Given the description of an element on the screen output the (x, y) to click on. 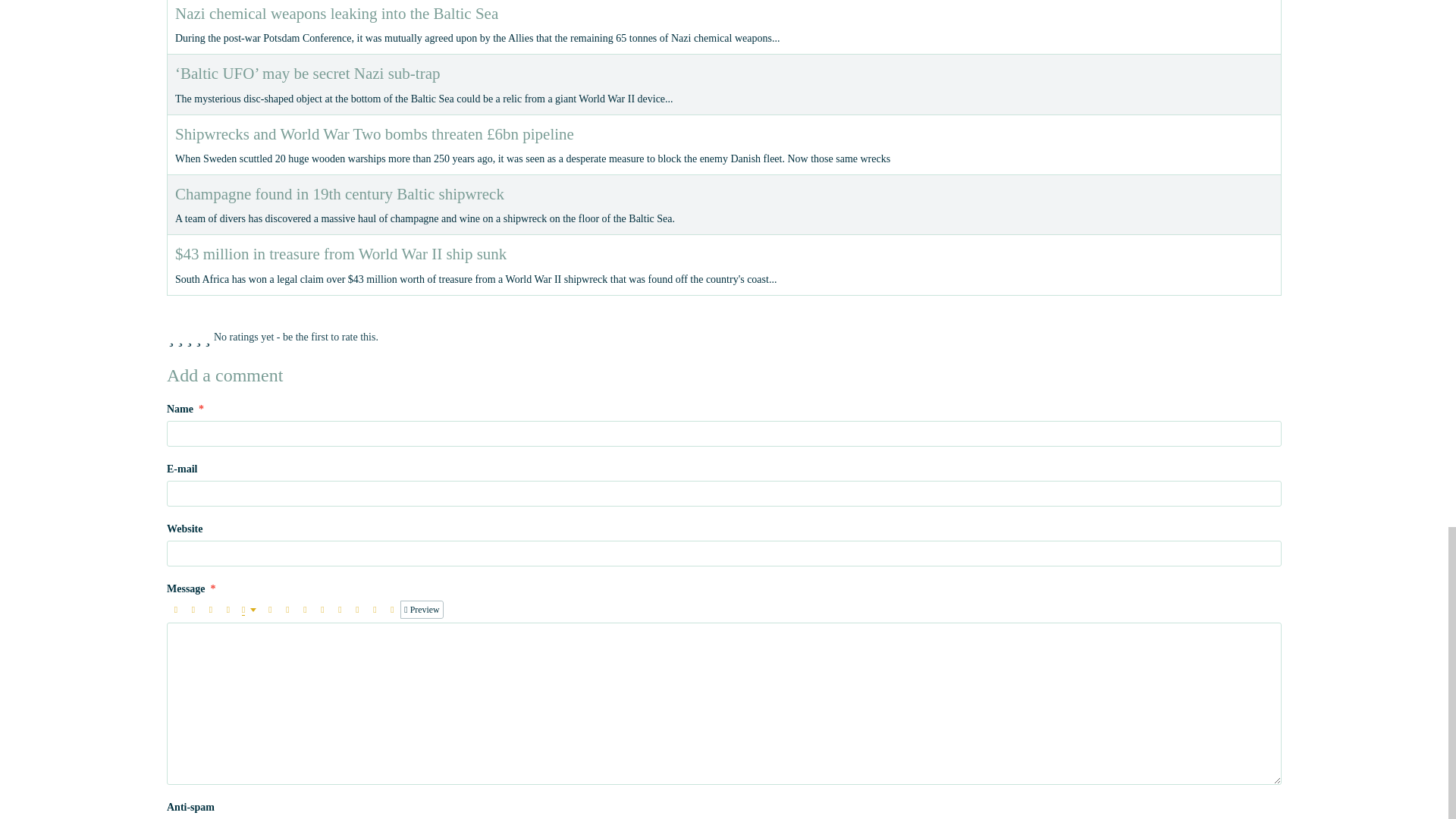
Image (339, 609)
Link (304, 609)
Text center (287, 609)
Nazi chemical weapons leaking into the Baltic Sea (335, 13)
Text color (248, 609)
Italics (193, 609)
Text size (228, 609)
Underline (210, 609)
Champagne found in 19th century Baltic shipwreck (338, 194)
Quote (269, 609)
